Given the description of an element on the screen output the (x, y) to click on. 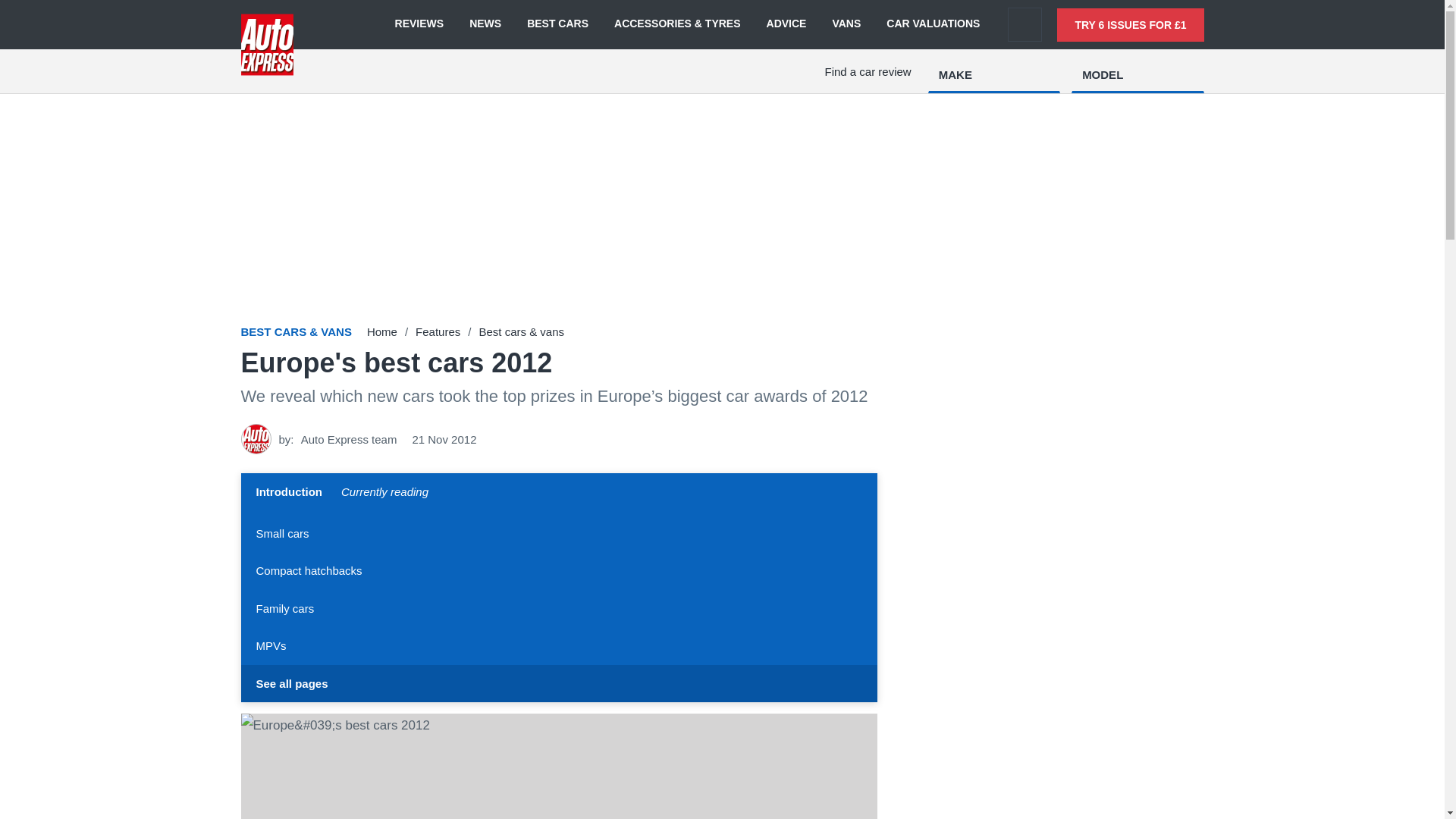
CAR VALUATIONS (932, 24)
VANS (845, 24)
Button (559, 494)
BEST CARS (557, 24)
ADVICE (786, 24)
Button (559, 682)
Search (1024, 24)
NEWS (485, 24)
REVIEWS (419, 24)
Search (1024, 24)
